Given the description of an element on the screen output the (x, y) to click on. 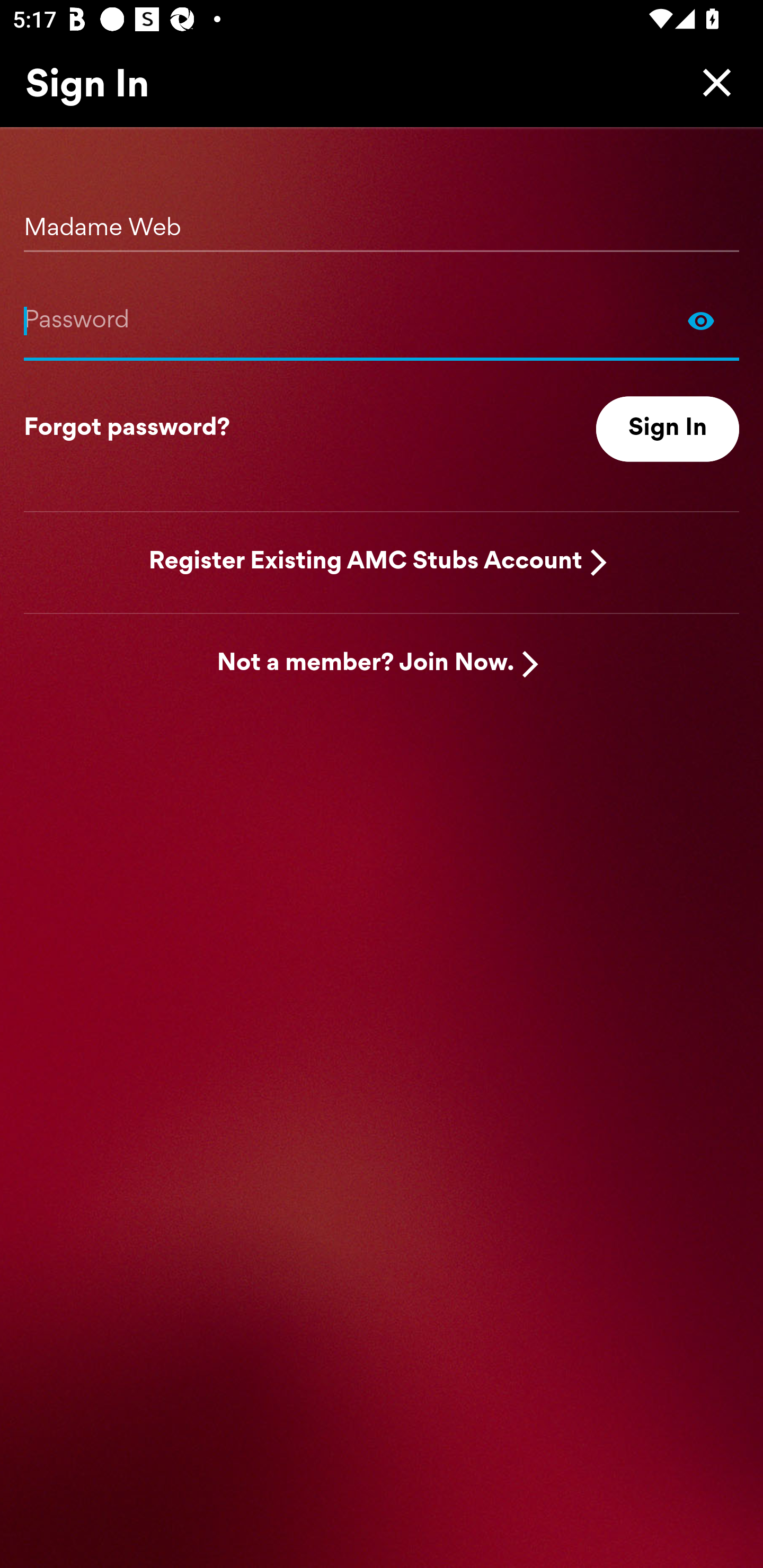
Close (712, 82)
Madame Web (381, 220)
Show Password (381, 320)
Show Password (701, 320)
Forgot password? (126, 428)
Sign In (667, 428)
Register Existing AMC Stubs Account (365, 561)
Not a member? Join Now. (365, 663)
